Given the description of an element on the screen output the (x, y) to click on. 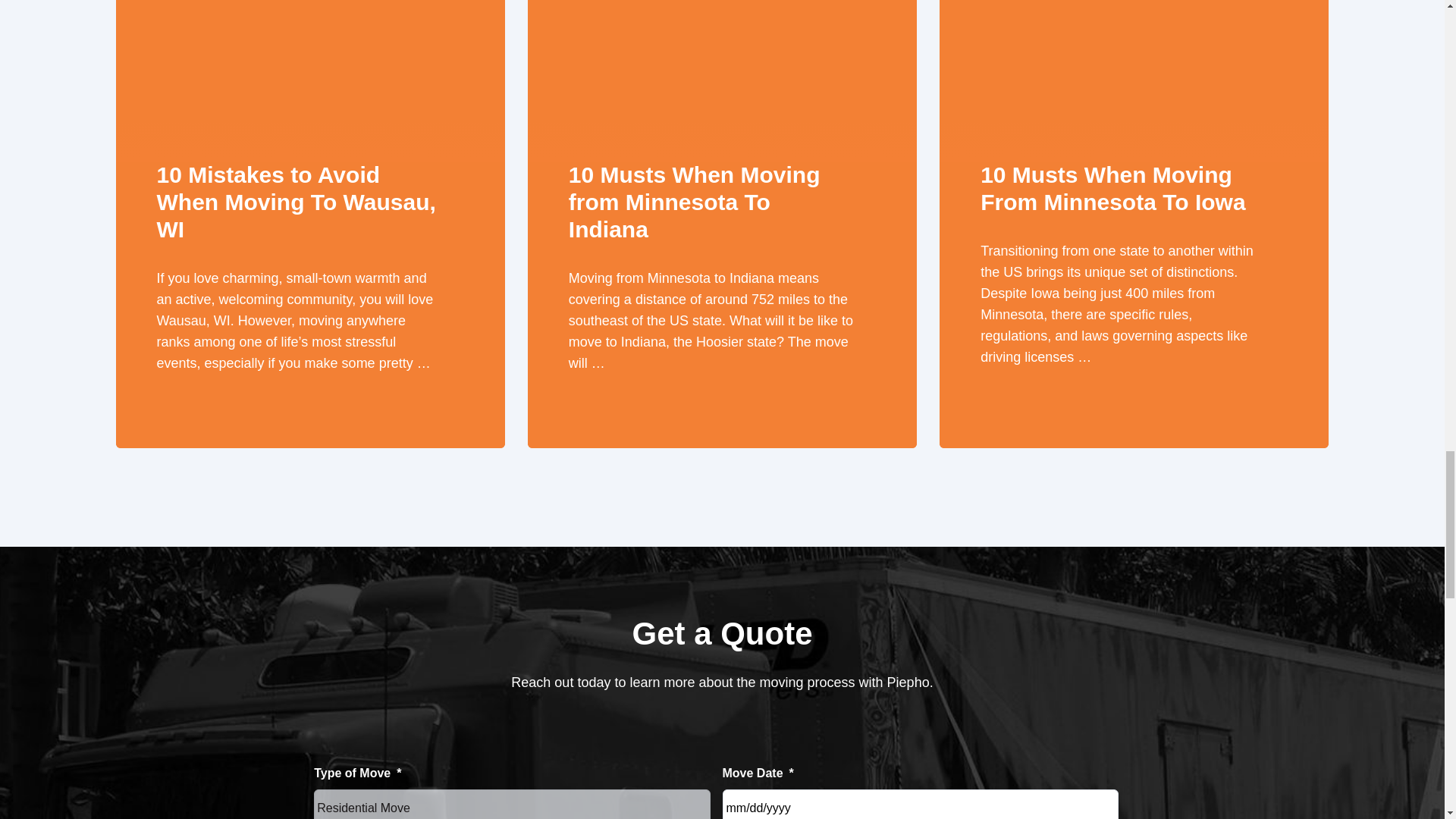
10 Musts When Moving From Minnesota To Iowa (1133, 33)
10 Mistakes to Avoid When Moving To Wausau, WI (309, 33)
10 Musts When Moving from Minnesota To Indiana (722, 33)
